Given the description of an element on the screen output the (x, y) to click on. 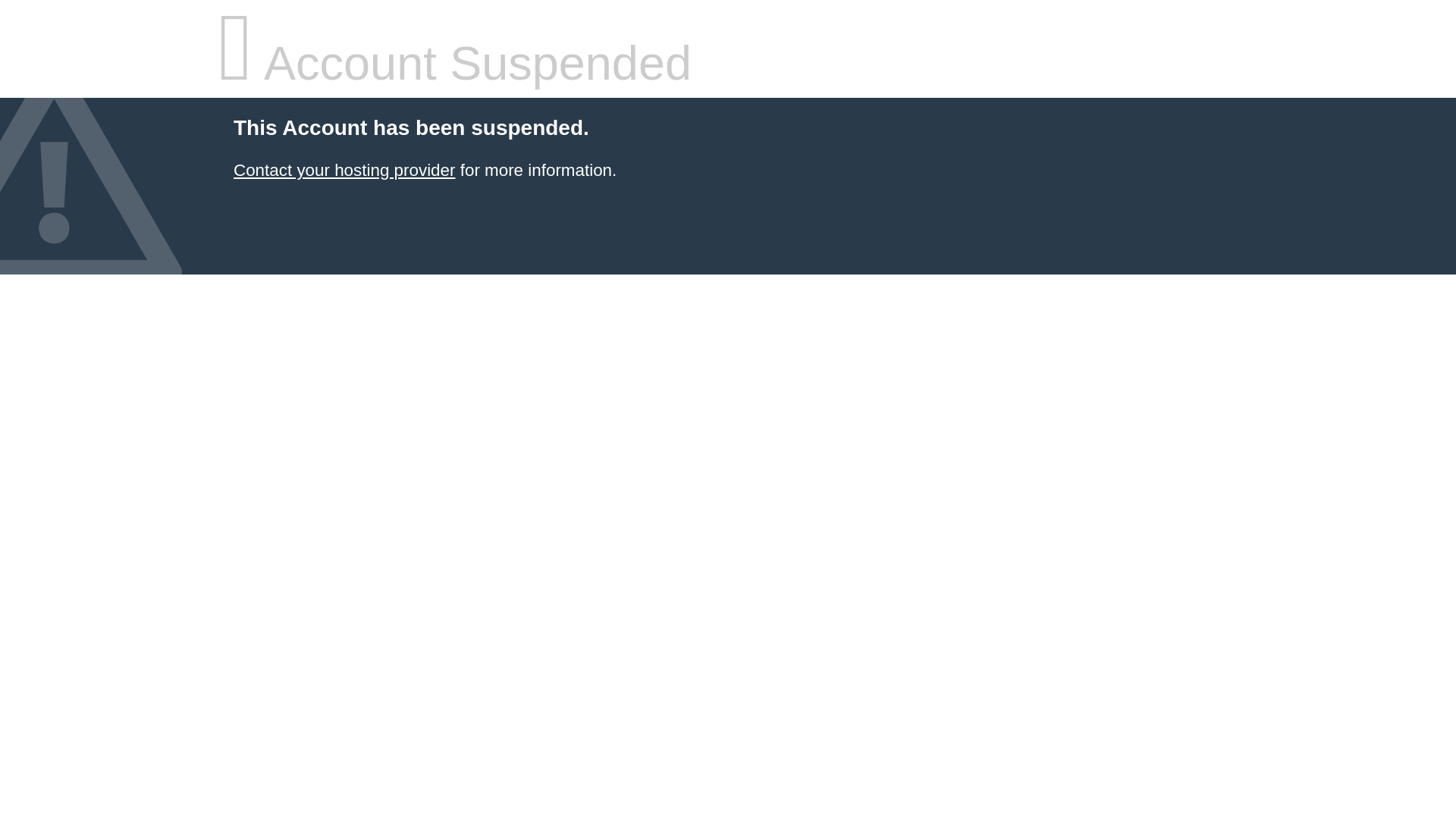
Silver Frog (343, 169)
Contact your hosting provider (343, 169)
